Given the description of an element on the screen output the (x, y) to click on. 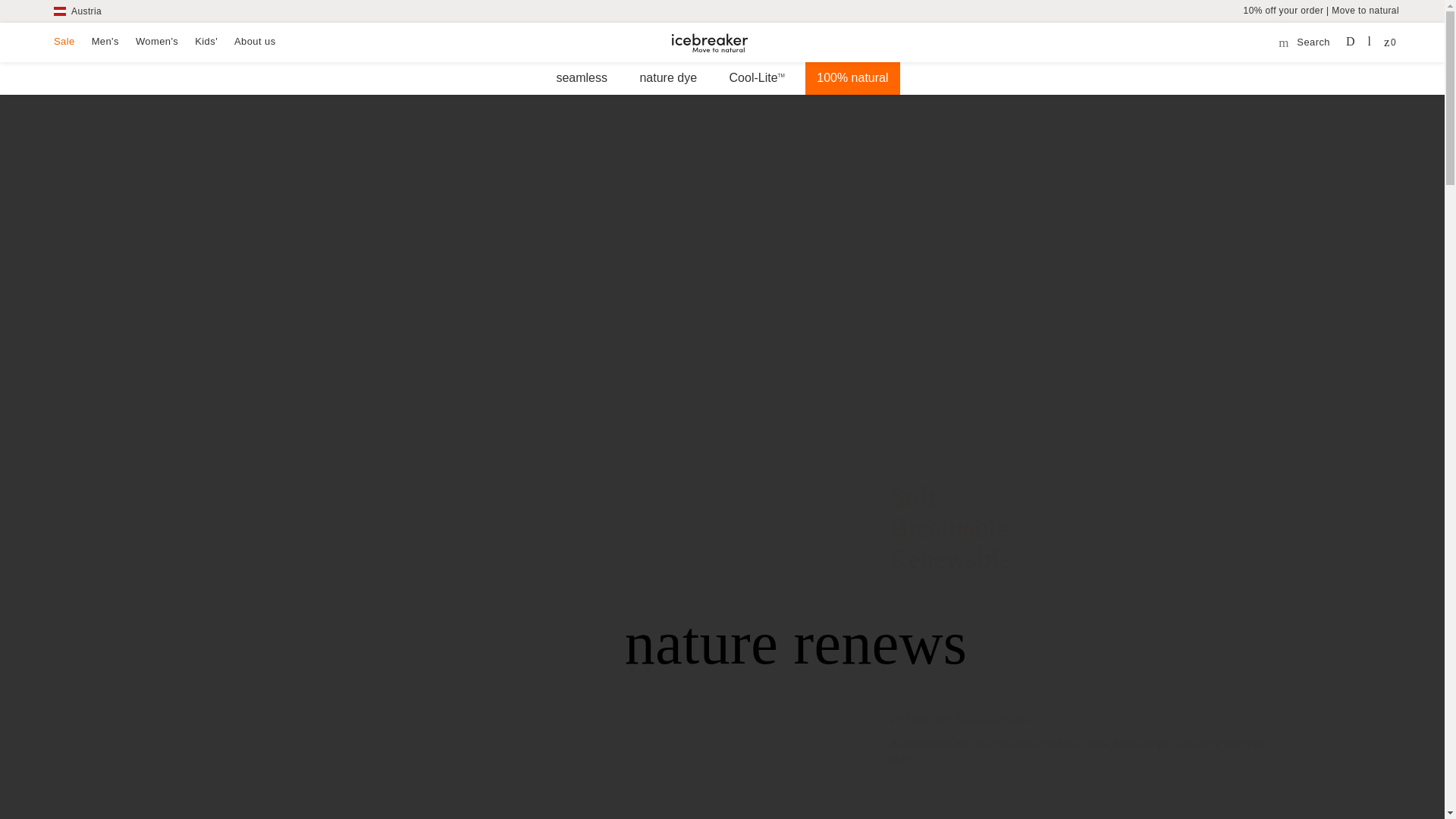
Sale (63, 41)
Austria (77, 11)
Sale (63, 41)
Austria (77, 11)
Men's (105, 41)
Men's (105, 41)
